Given the description of an element on the screen output the (x, y) to click on. 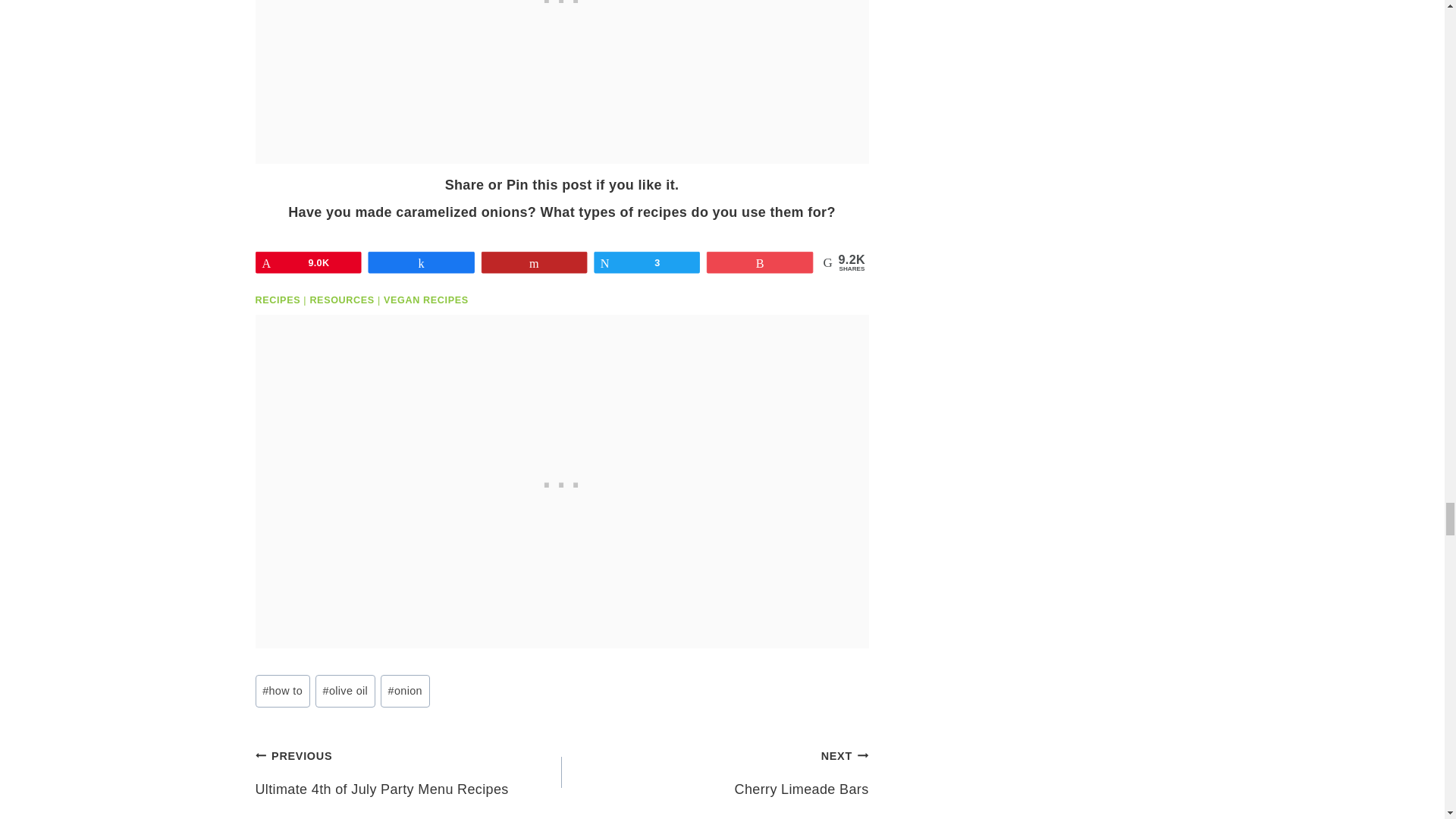
olive oil (345, 690)
how to (281, 690)
onion (404, 690)
